Given the description of an element on the screen output the (x, y) to click on. 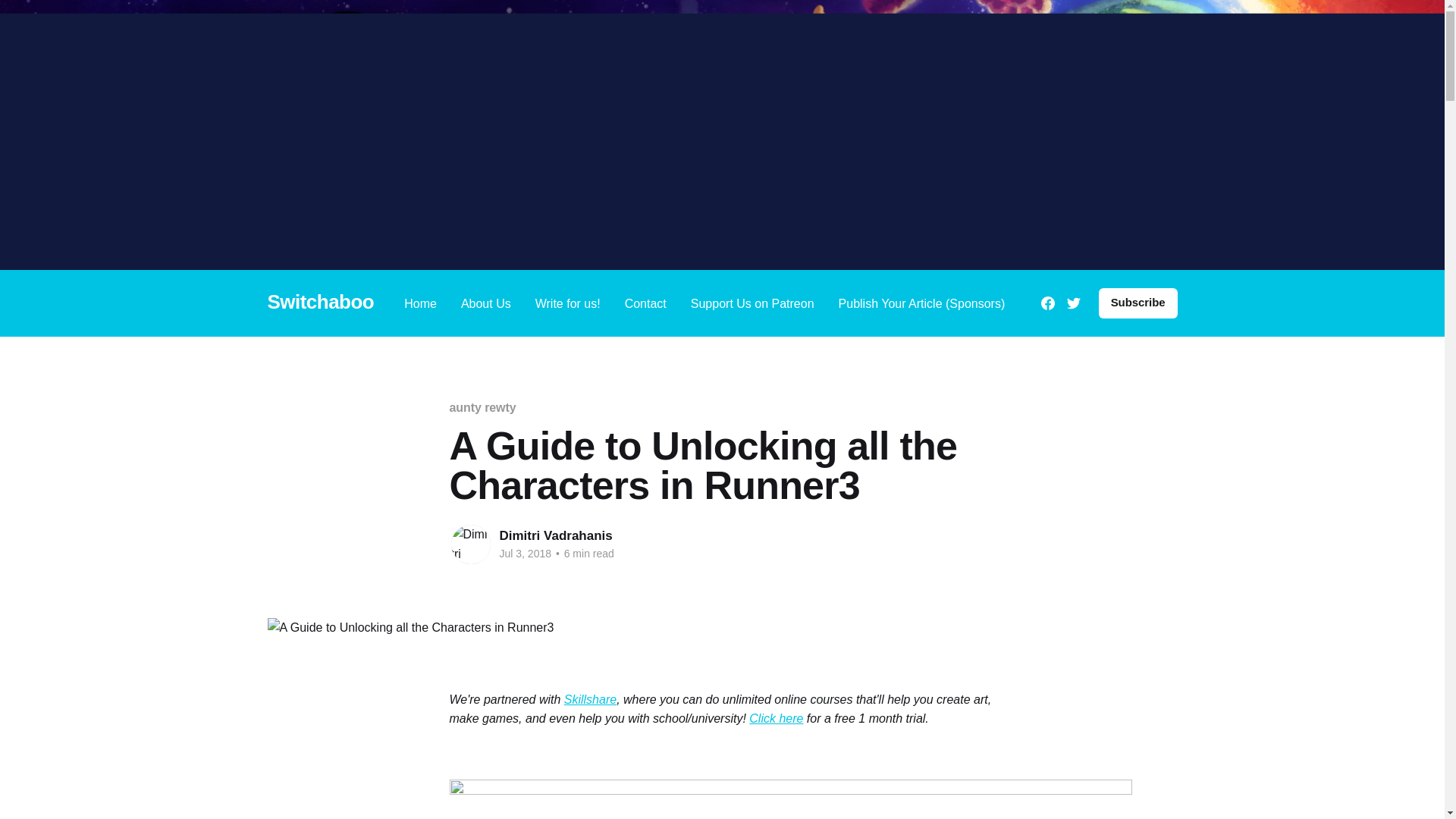
Contact (645, 302)
Click here (776, 717)
Switchaboo (320, 302)
Subscribe (1138, 303)
Write for us! (567, 302)
About Us (486, 302)
Dimitri Vadrahanis (555, 535)
Facebook (1047, 303)
Support Us on Patreon (751, 302)
Skillshare (589, 698)
